Given the description of an element on the screen output the (x, y) to click on. 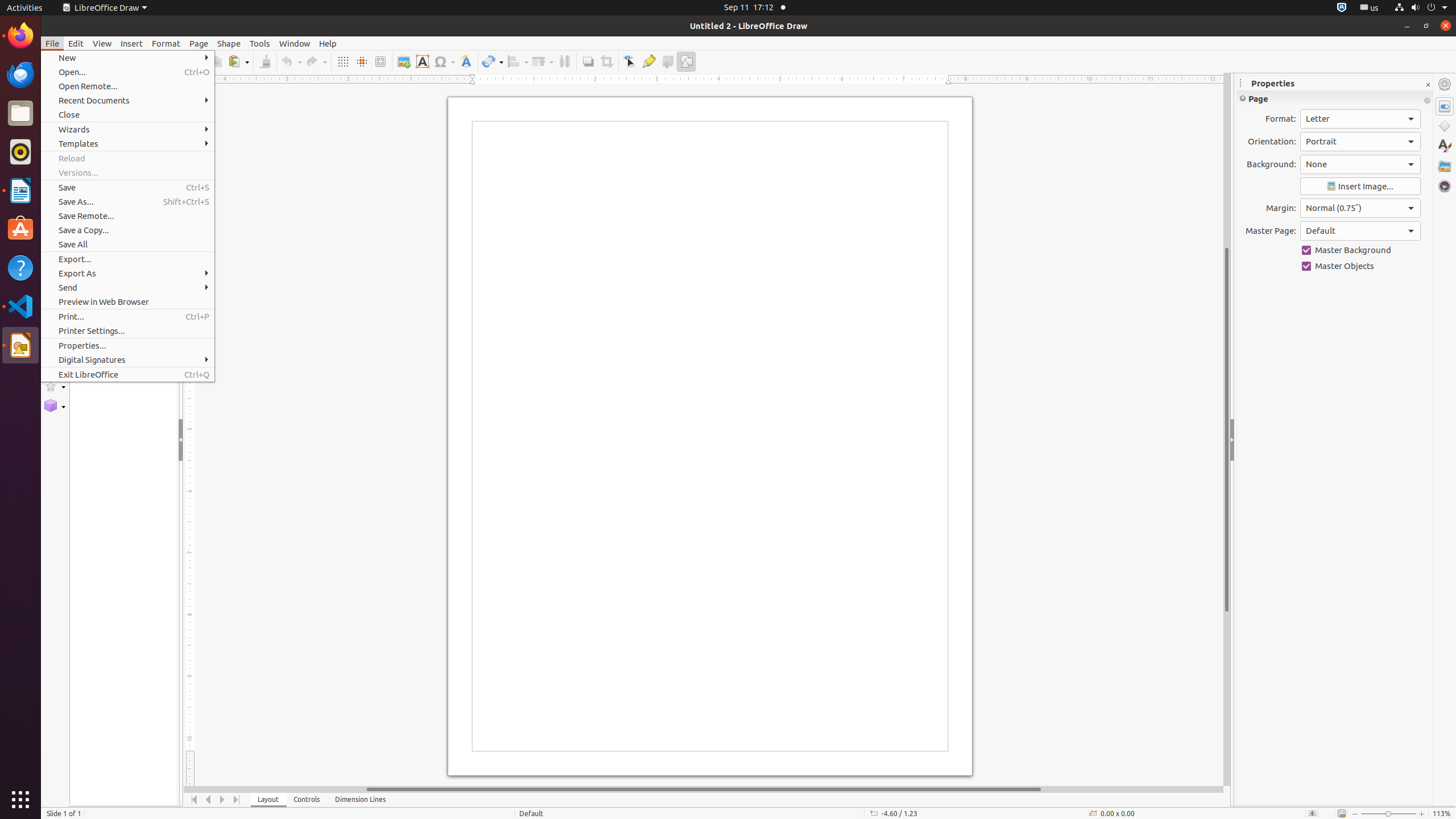
Image Element type: push-button (403, 61)
Save Element type: menu-item (127, 187)
Dimension Lines Element type: page-tab (360, 799)
LibreOffice Draw Element type: menu (103, 7)
:1.72/StatusNotifierItem Element type: menu (1341, 7)
